Given the description of an element on the screen output the (x, y) to click on. 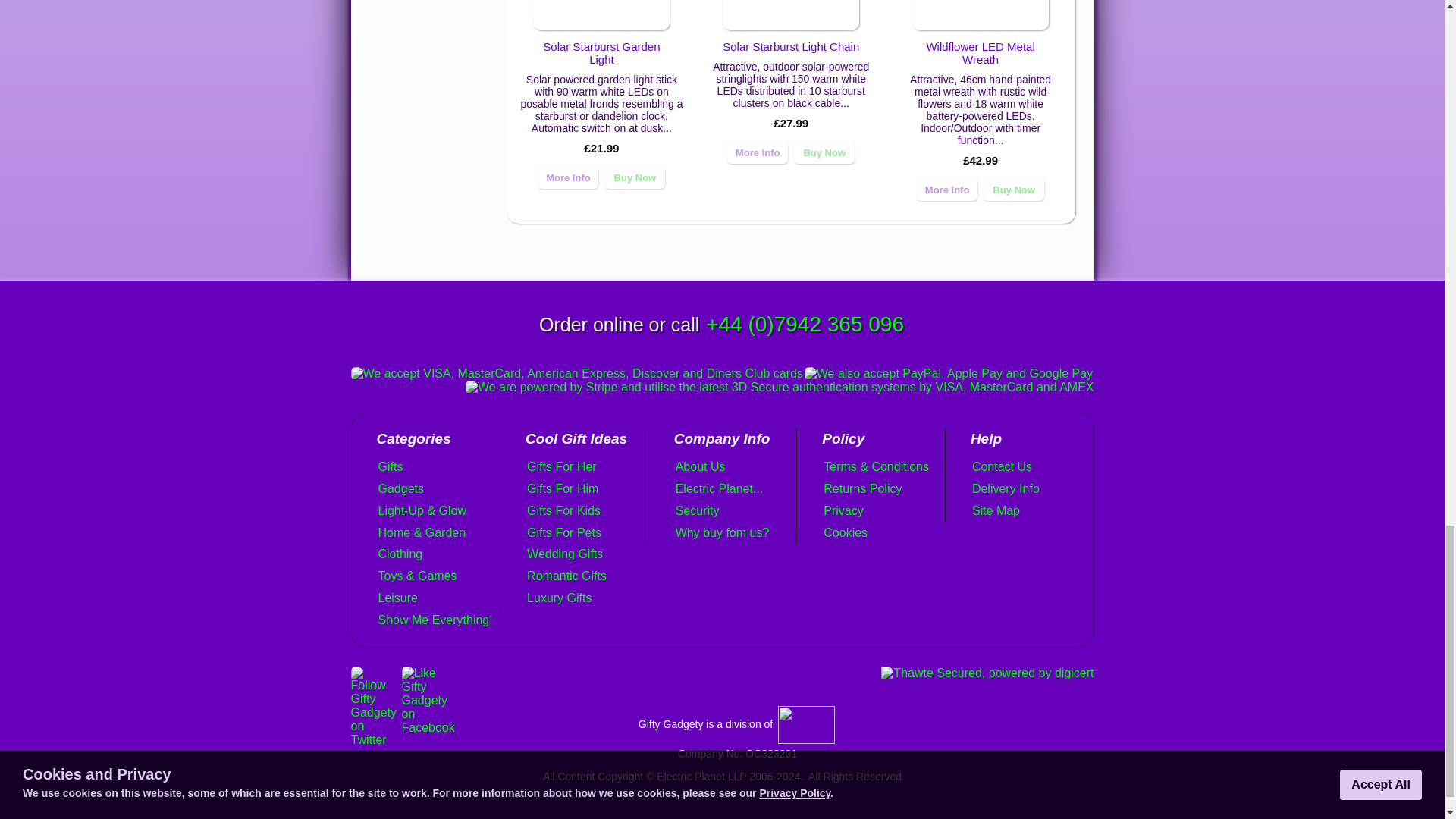
Follow Gifty Gadgety on Twitter (373, 739)
Gifty Gadgety is secured by SSL (986, 672)
Gifty Gadgety also accepts PayPal, Apple Pay and Google Pay (949, 373)
Like Gifty Gadgety on Facebook (427, 727)
